Given the description of an element on the screen output the (x, y) to click on. 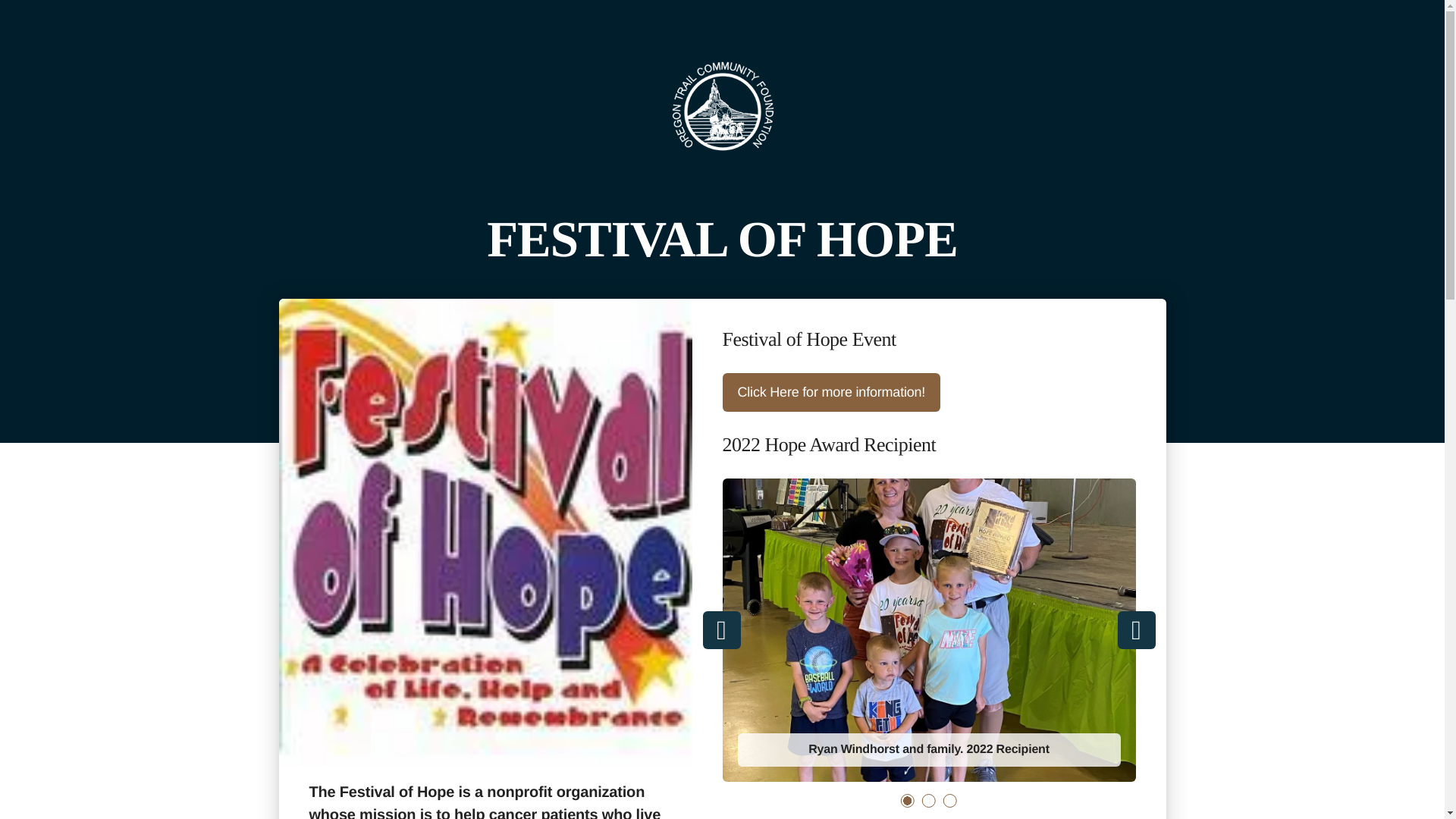
Click Here for more information! (831, 392)
logo (721, 105)
Go to Next Slide (1137, 629)
Go to Next Slide (1137, 629)
Go to Previous Slide (720, 629)
Go to Previous Slide (720, 629)
